Given the description of an element on the screen output the (x, y) to click on. 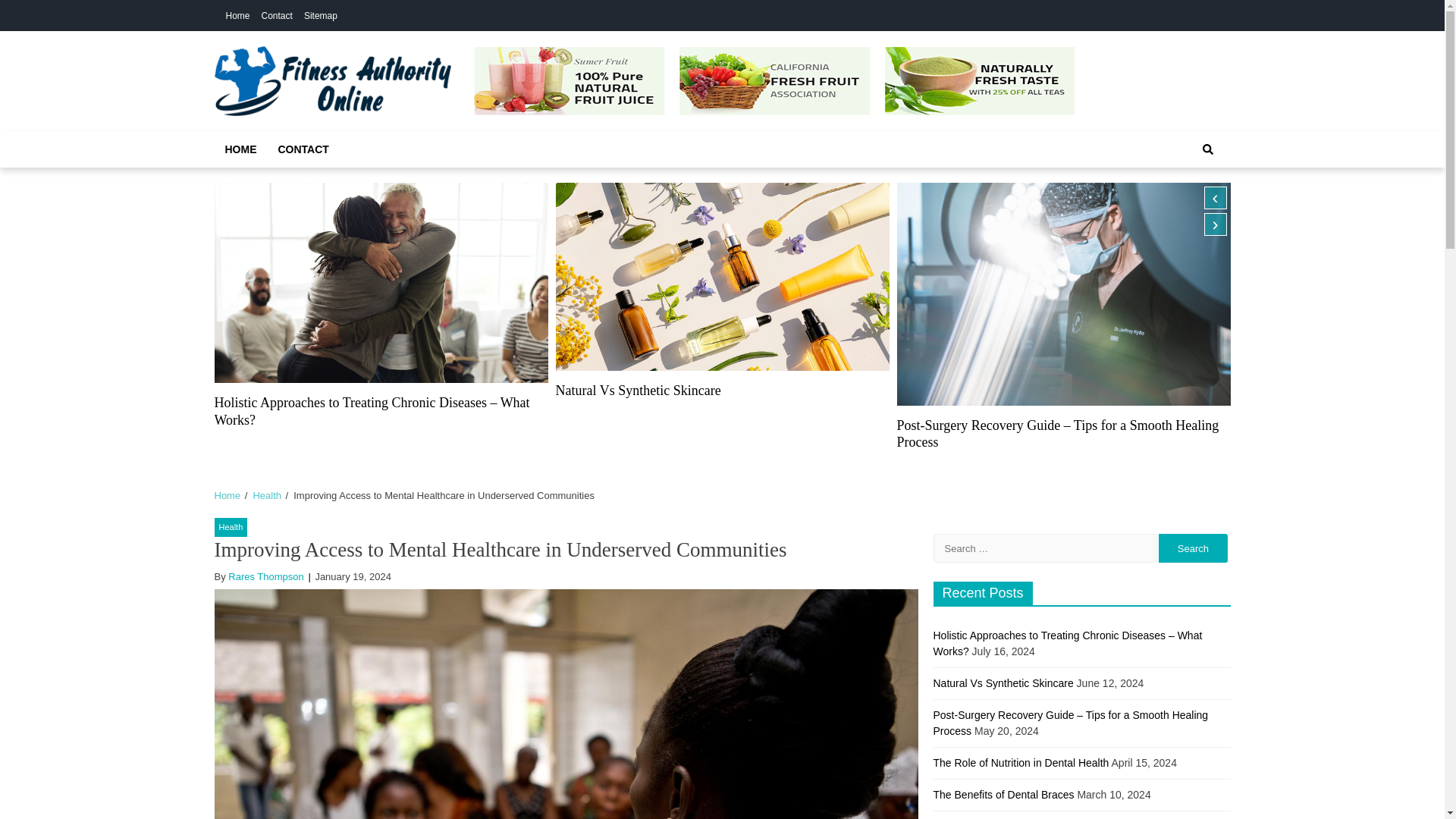
Fitness Authority Online (382, 133)
Search (1207, 149)
Home (227, 495)
CONTACT (302, 149)
Rares Thompson (265, 576)
Home (237, 15)
Search (1191, 200)
Sitemap (320, 15)
Natural Vs Synthetic Skincare (637, 390)
HOME (240, 149)
Contact (277, 15)
Search (1192, 547)
Health (266, 495)
Search (1192, 547)
Health (230, 527)
